Given the description of an element on the screen output the (x, y) to click on. 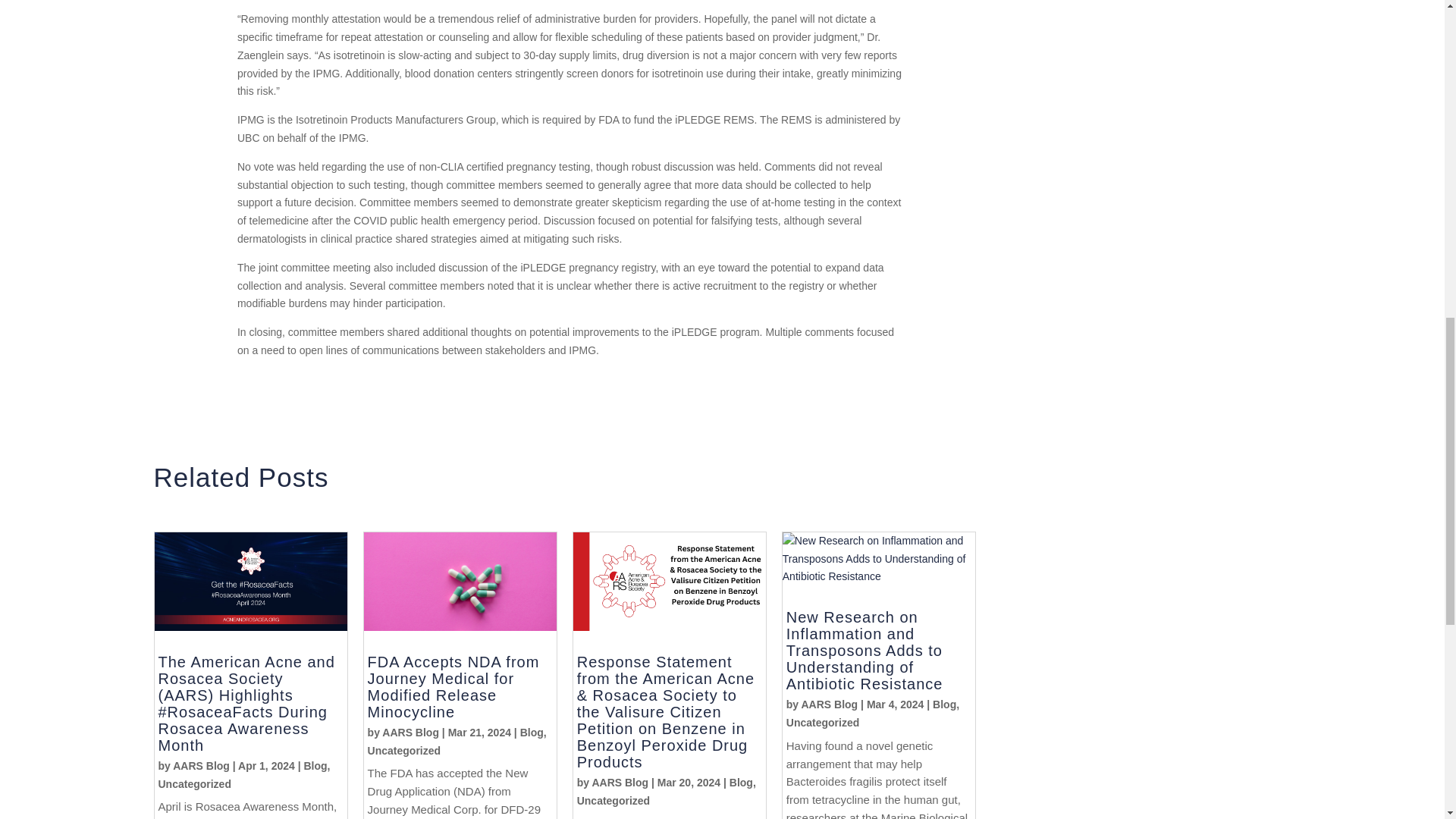
Posts by AARS Blog (619, 782)
Posts by AARS Blog (201, 766)
Posts by AARS Blog (410, 732)
Posts by AARS Blog (828, 704)
